Given the description of an element on the screen output the (x, y) to click on. 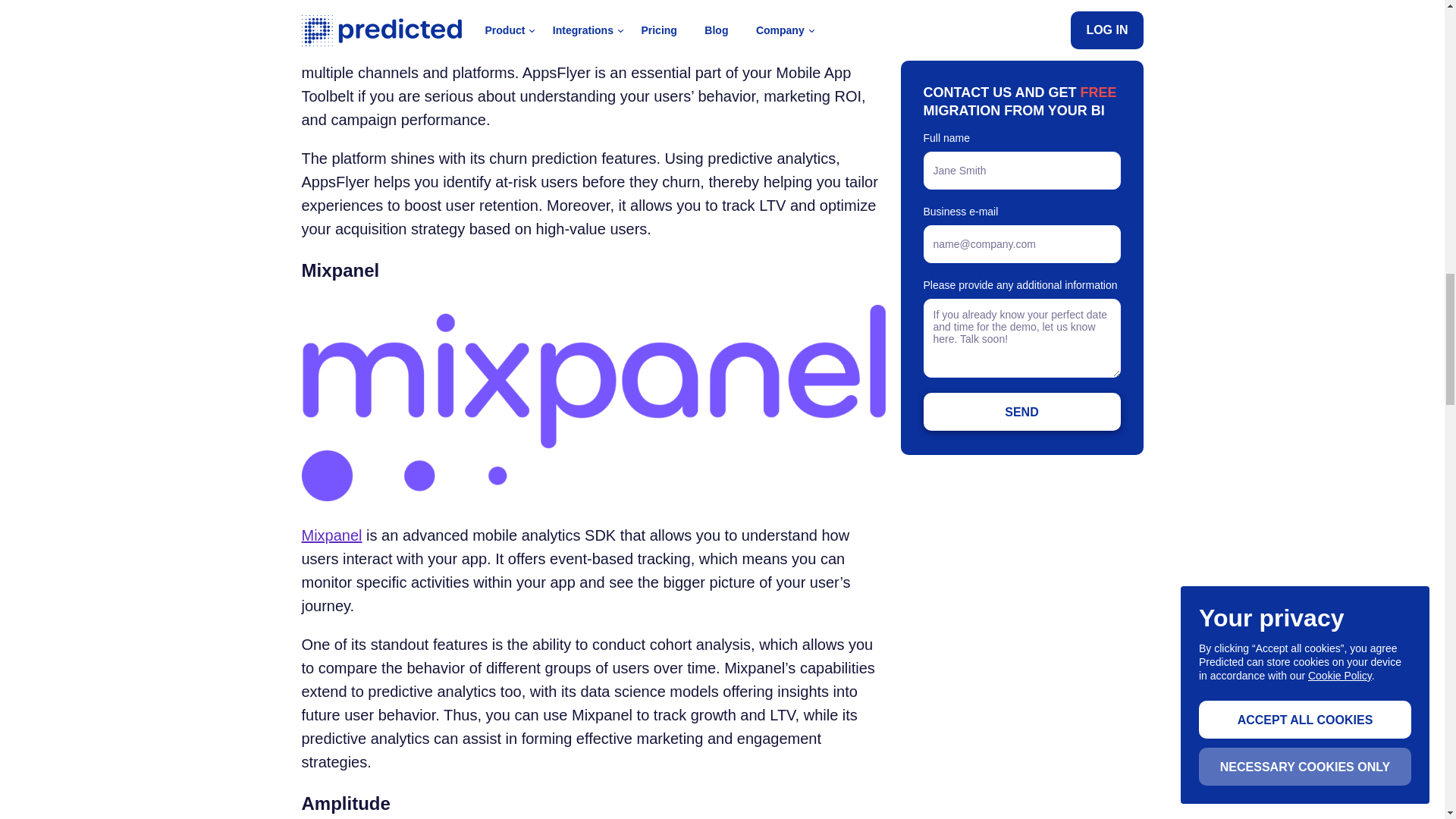
AppsFlyer (335, 25)
Mixpanel (331, 535)
